Given the description of an element on the screen output the (x, y) to click on. 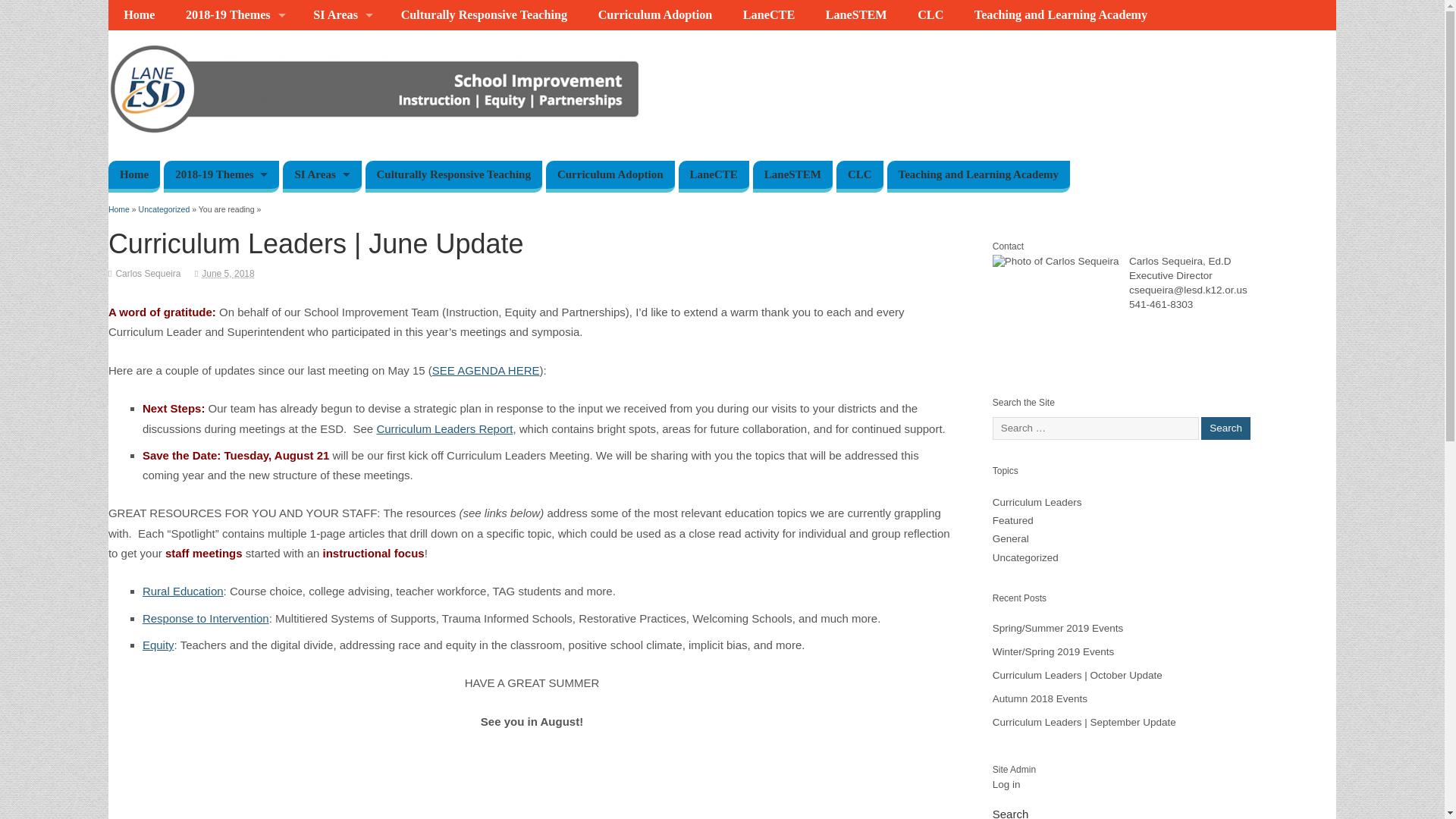
LaneSTEM (855, 15)
Posts by Carlos Sequeira (147, 273)
Teaching and Learning Academy (1061, 15)
Search (1225, 428)
Curriculum Adoption (610, 176)
LaneSTEM (855, 15)
LaneCTE (769, 15)
LaneCTE (713, 176)
SI Areas (321, 176)
Search for: (1095, 427)
LaneSTEM (792, 176)
Teaching and Learning Academy (1061, 15)
2018-19 Themes (221, 176)
Home (133, 176)
SI Areas (341, 15)
